Given the description of an element on the screen output the (x, y) to click on. 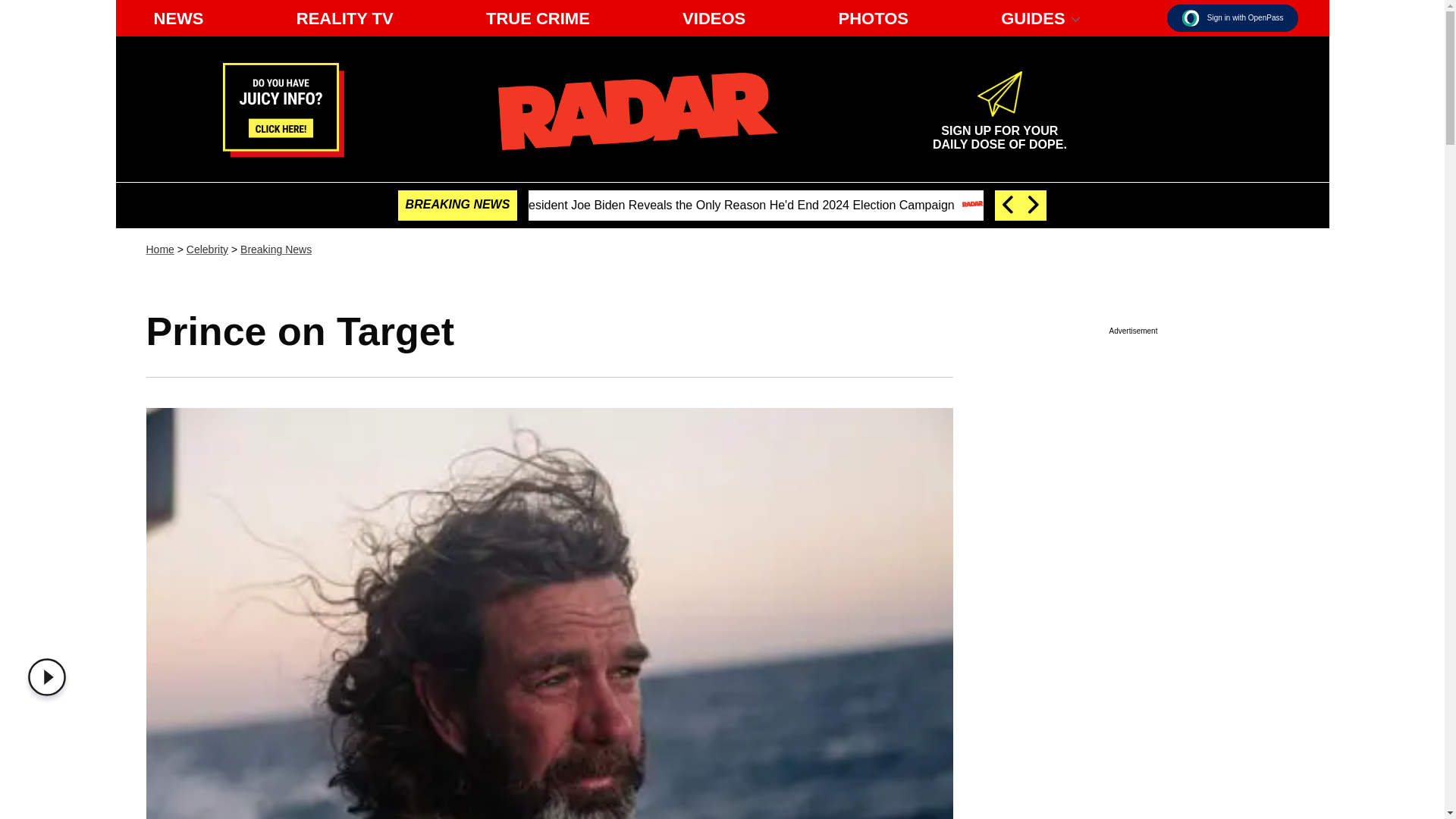
OpenPass Logo (1190, 17)
VIDEOS (713, 18)
NEWS (178, 18)
Sign in with OpenPass (1232, 17)
Email us your tip (282, 152)
Radar Online (637, 110)
PHOTOS (872, 18)
REALITY TV (344, 18)
Celebrity (207, 249)
Home (159, 249)
Breaking News (275, 249)
TRUE CRIME (537, 18)
Trinity Audio Player (50, 677)
